Given the description of an element on the screen output the (x, y) to click on. 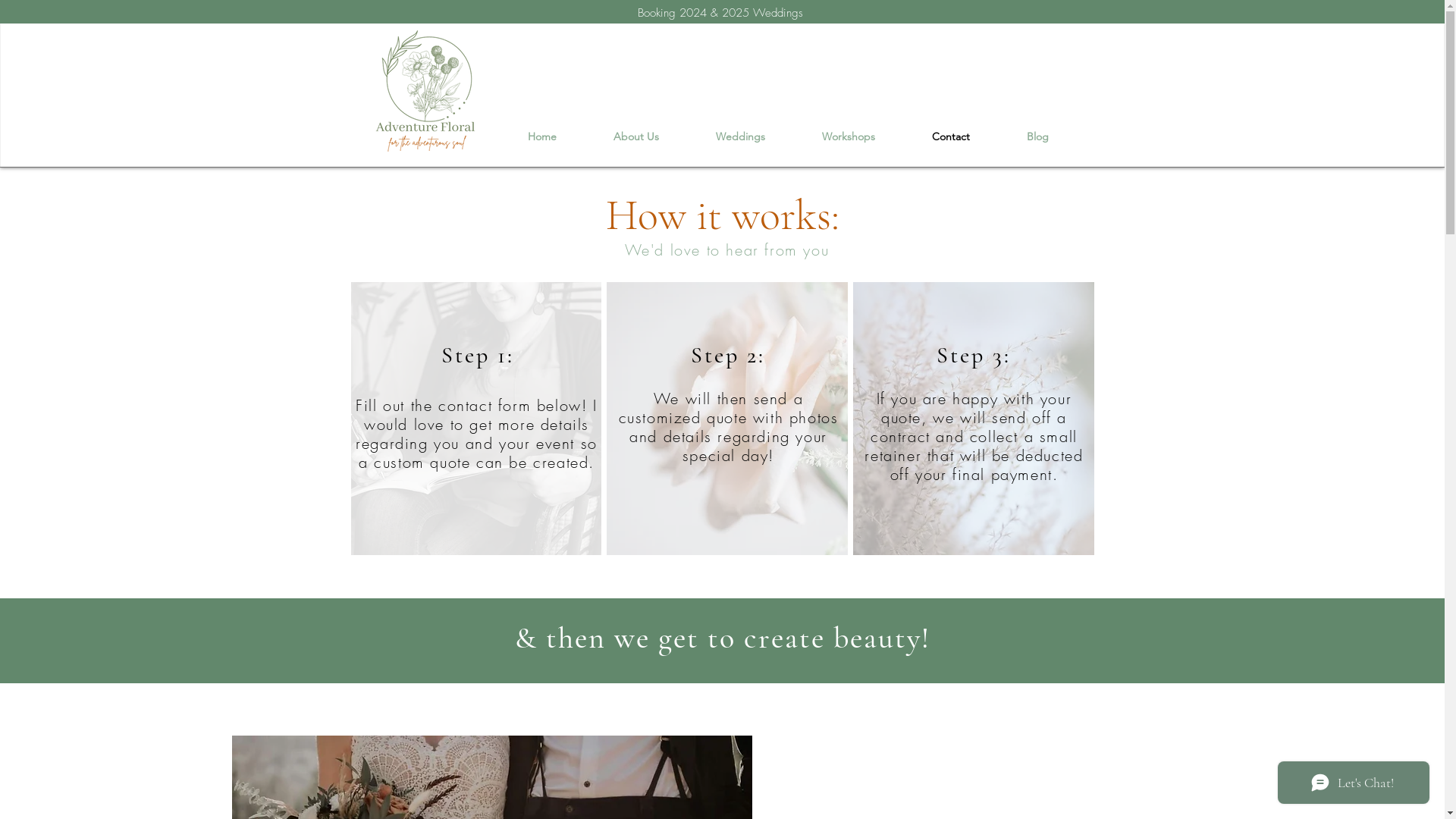
About Us Element type: text (636, 136)
Blog Element type: text (1036, 136)
Home Element type: text (541, 136)
Contact Element type: text (950, 136)
Weddings Element type: text (740, 136)
Workshops Element type: text (848, 136)
